Given the description of an element on the screen output the (x, y) to click on. 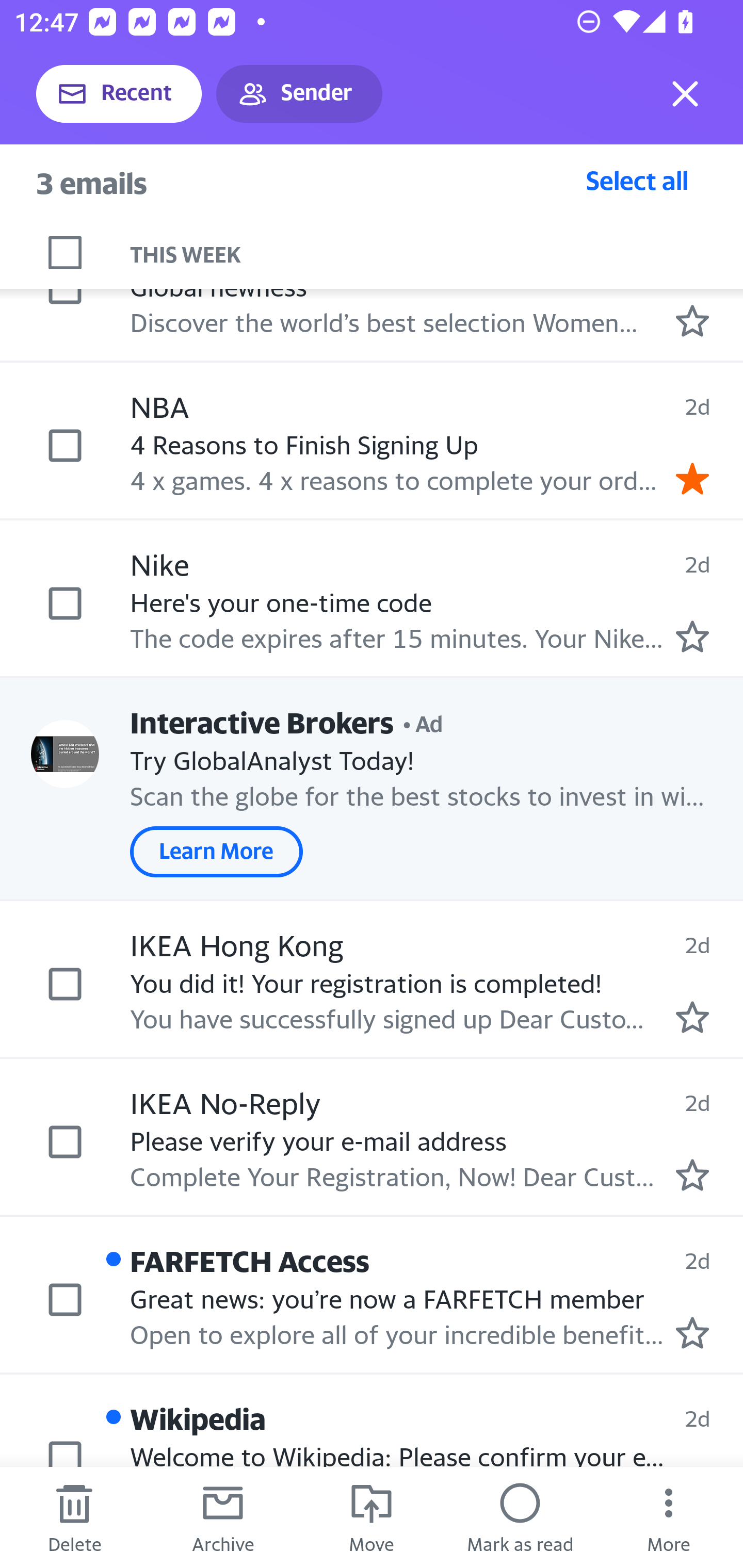
Sender (299, 93)
Exit selection mode (684, 93)
Select all (637, 180)
Mark as starred. (692, 320)
Remove star. (692, 478)
Mark as starred. (692, 635)
Mark as starred. (692, 1016)
Mark as starred. (692, 1175)
Mark as starred. (692, 1332)
Delete (74, 1517)
Archive (222, 1517)
Move (371, 1517)
Mark as read (519, 1517)
More (668, 1517)
